Given the description of an element on the screen output the (x, y) to click on. 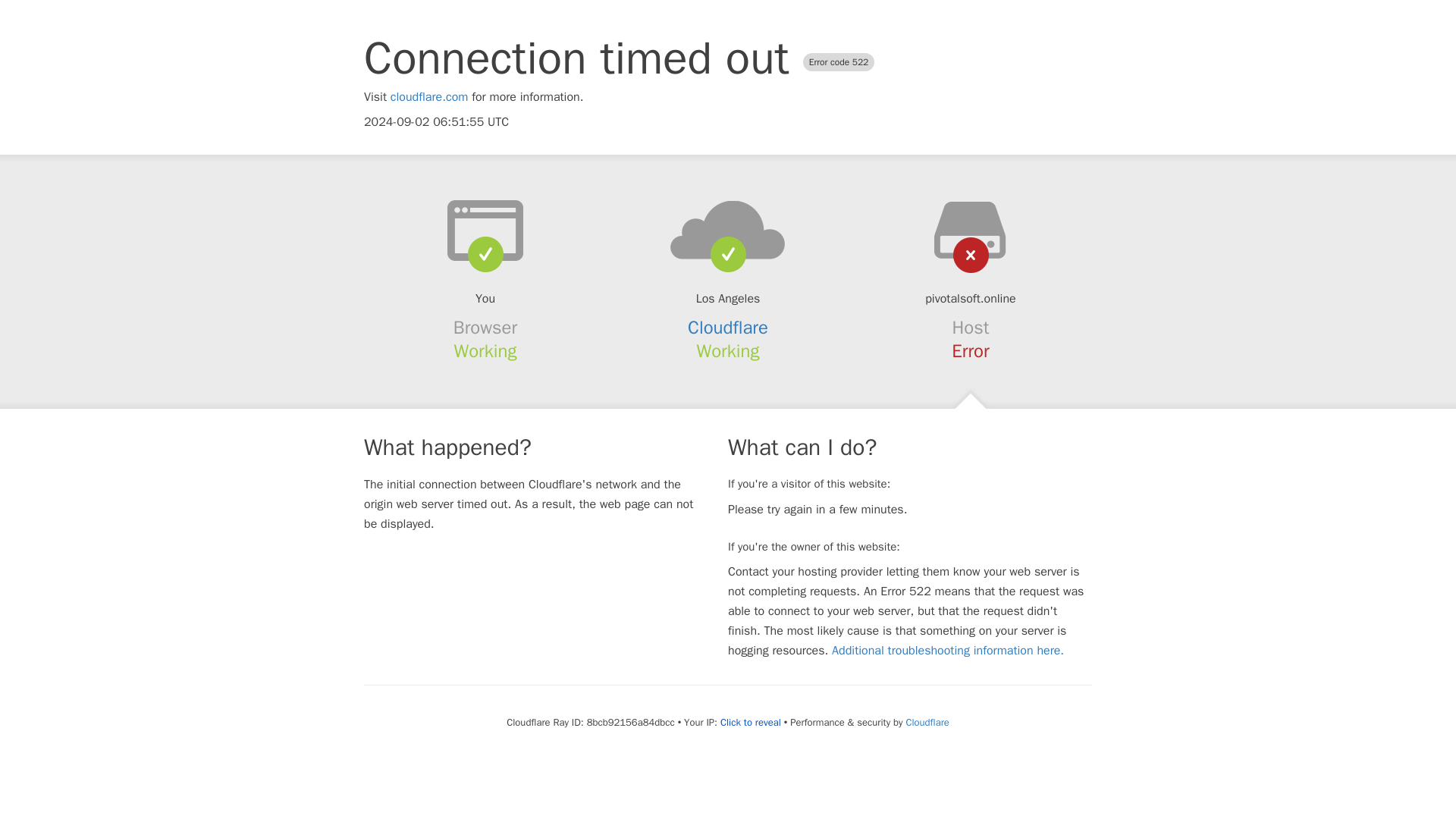
Cloudflare (927, 721)
Cloudflare (727, 327)
Click to reveal (750, 722)
cloudflare.com (429, 96)
Additional troubleshooting information here. (947, 650)
